Given the description of an element on the screen output the (x, y) to click on. 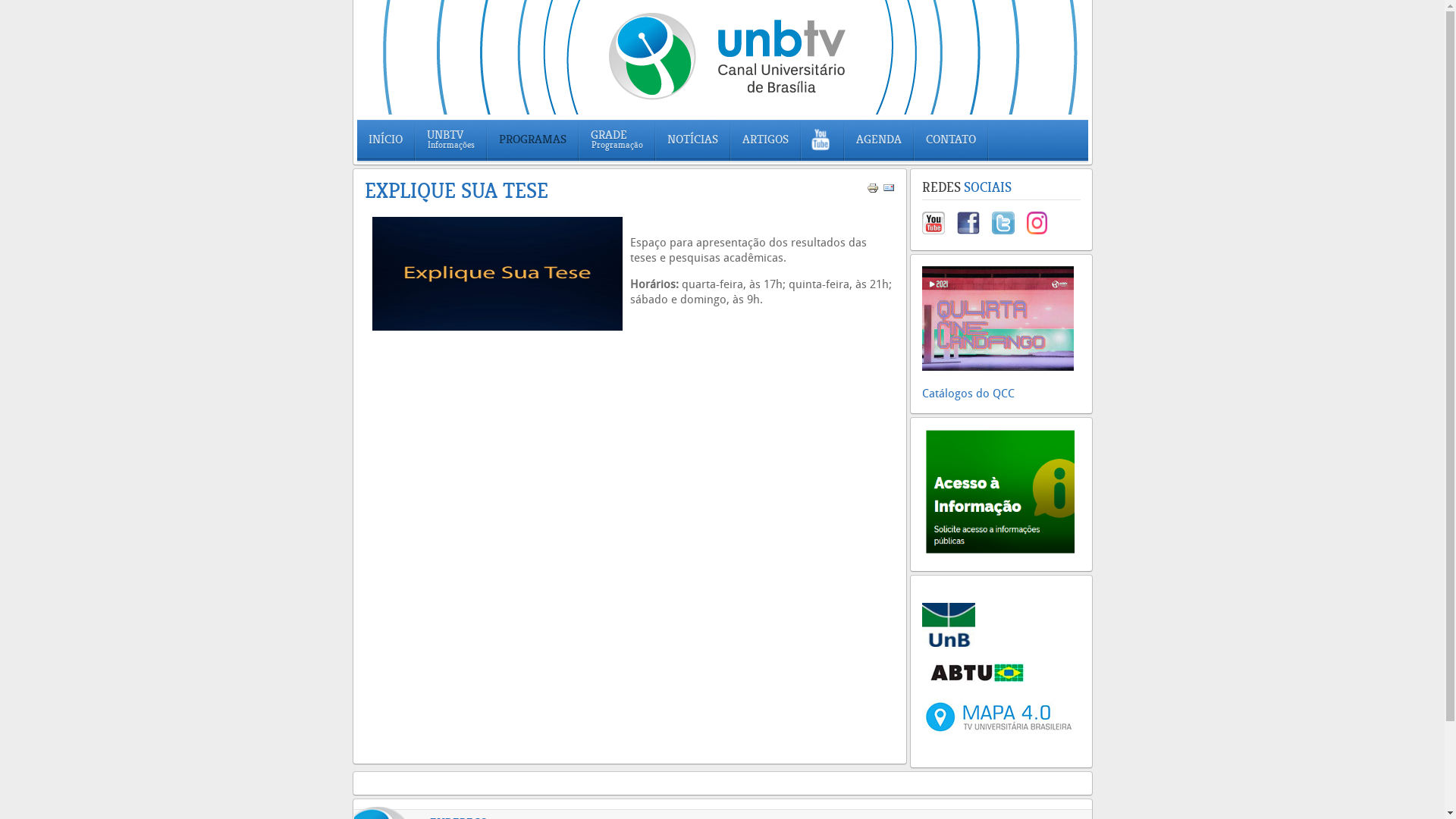
    Element type: text (937, 231)
CONTATO Element type: text (950, 138)
ARTIGOS Element type: text (765, 138)
   Element type: text (927, 679)
Imprimir Element type: hover (872, 191)
PROGRAMAS Element type: text (531, 138)
E-mail Element type: hover (888, 191)
AGENDA Element type: text (878, 138)
     Element type: text (974, 231)
